Given the description of an element on the screen output the (x, y) to click on. 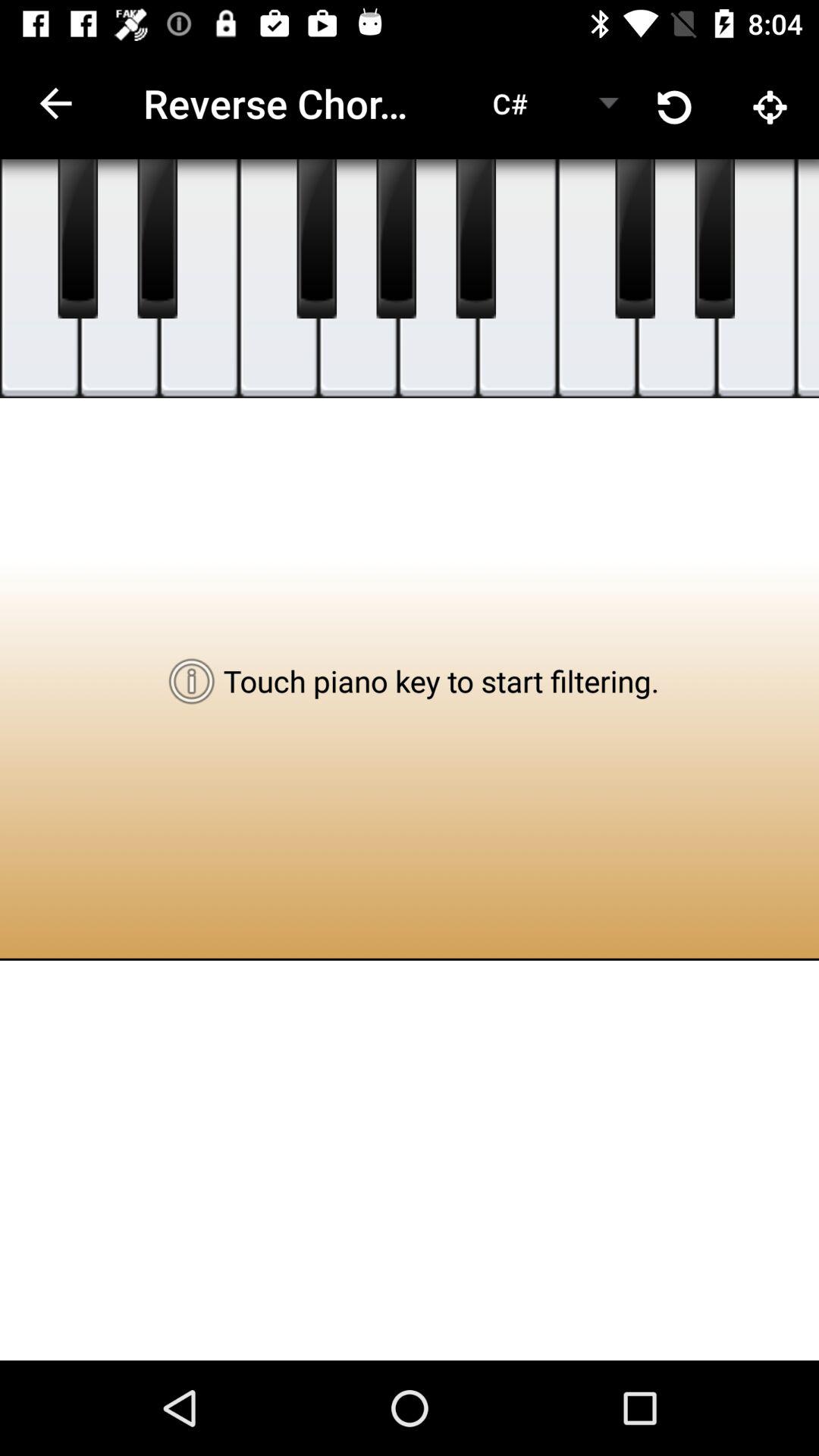
play note on piano (278, 278)
